Given the description of an element on the screen output the (x, y) to click on. 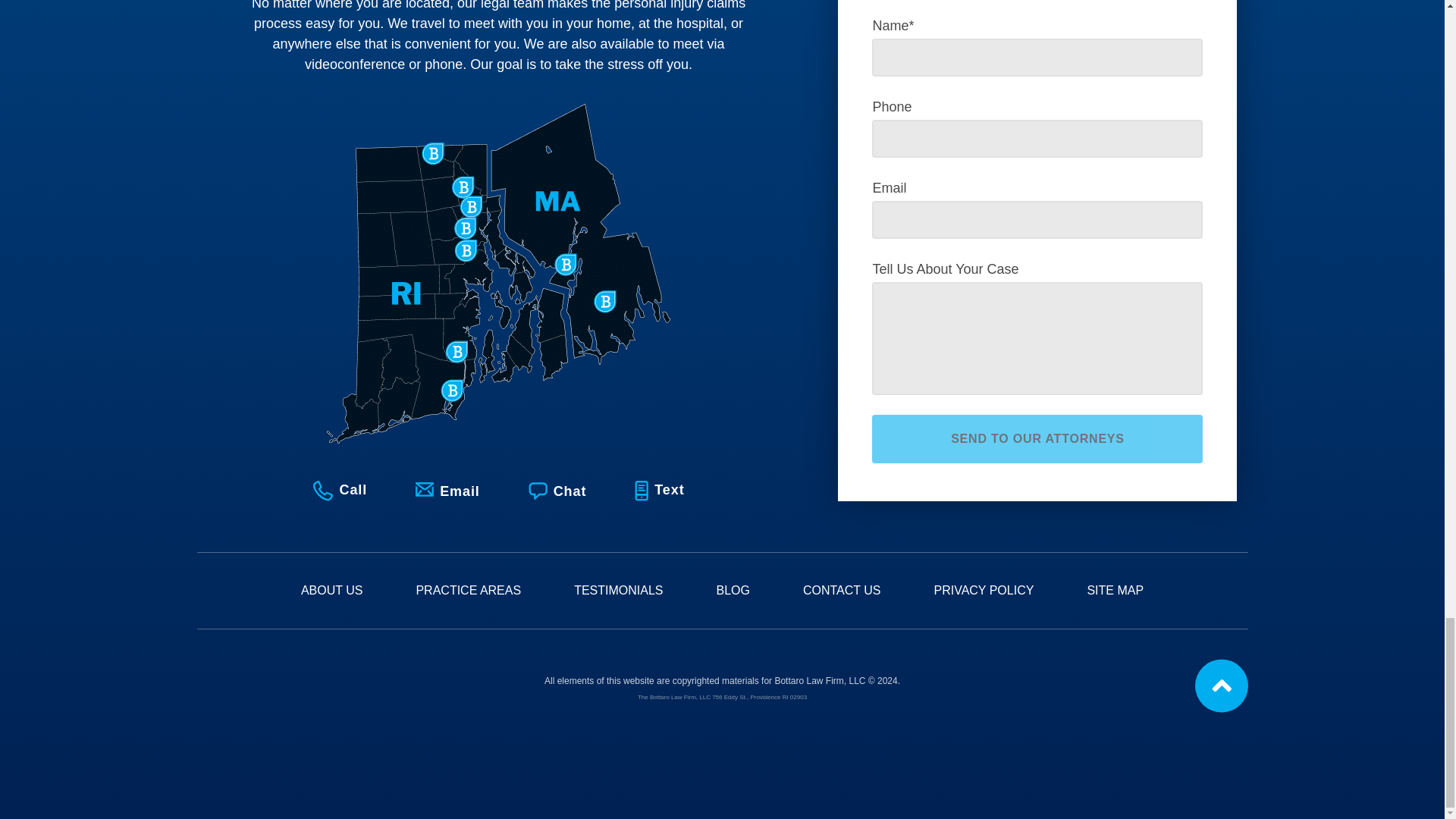
Send To Our Attorneys (1037, 438)
